Given the description of an element on the screen output the (x, y) to click on. 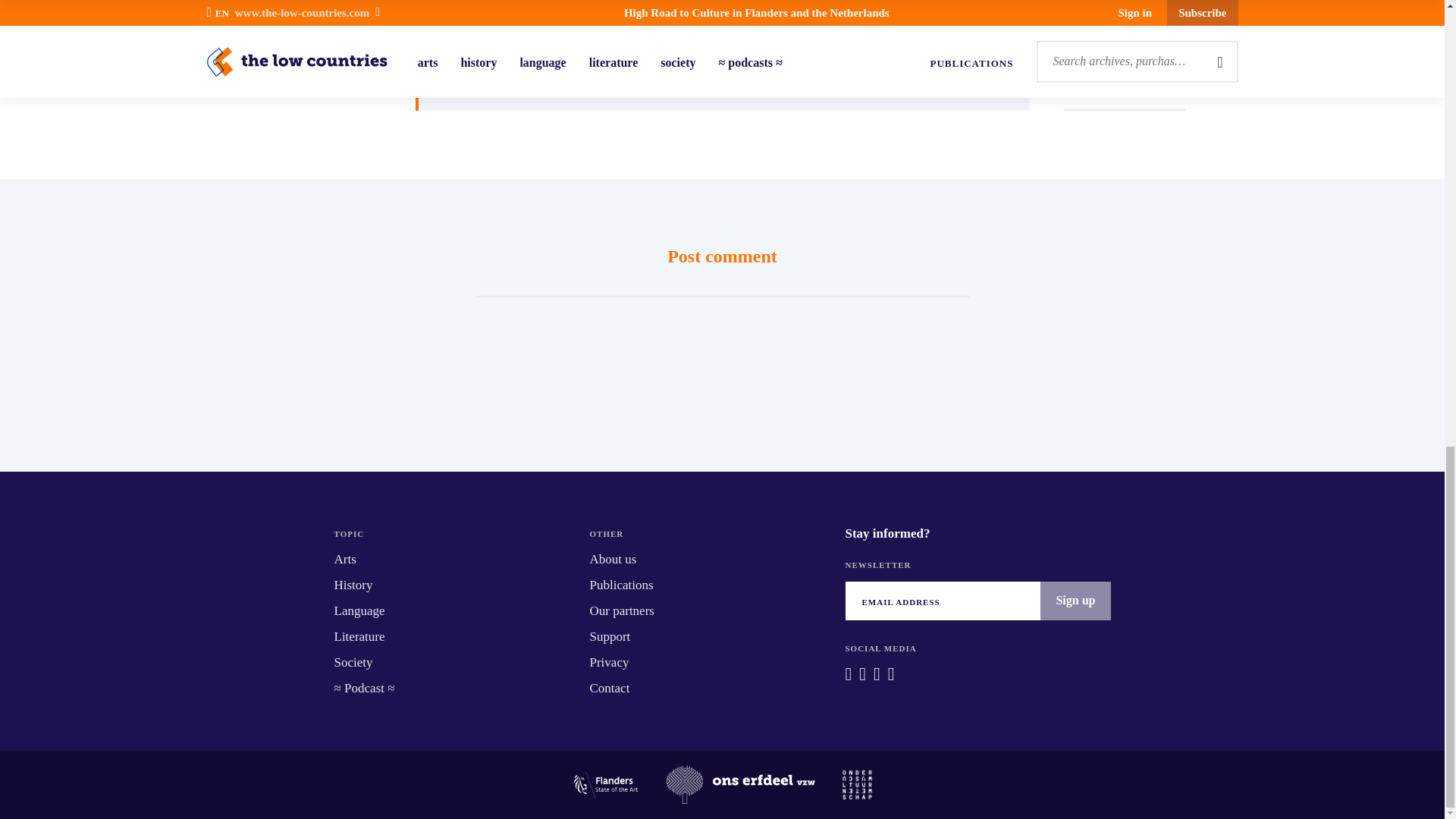
Logo-Flanders (605, 784)
Subscribe (873, 39)
Logo-ocw (857, 784)
Sign up (1075, 600)
Buy article (576, 39)
Logo-ons-erfdeel-negatief (740, 784)
Subscribe (726, 39)
